Given the description of an element on the screen output the (x, y) to click on. 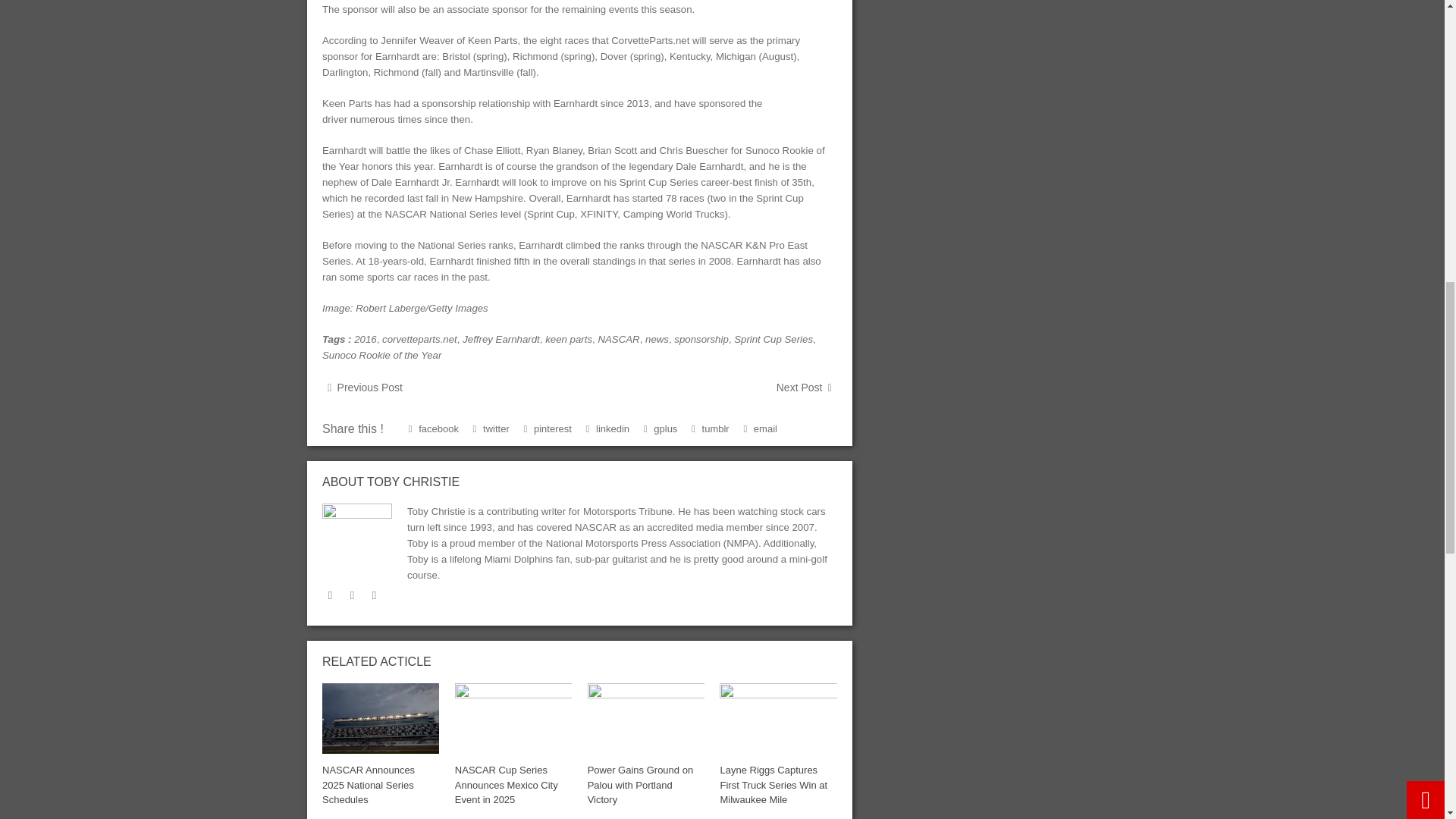
twitter (329, 594)
email (373, 594)
Power Gains Ground on Palou with Portland Victory (640, 784)
NASCAR Announces 2025 National Series Schedules (367, 784)
NASCAR Announces 2025 National Series Schedules (380, 718)
NASCAR Cup Series Announces Mexico City Event in 2025 (513, 718)
facebook (351, 594)
Power Gains Ground on Palou with Portland Victory (646, 718)
